Given the description of an element on the screen output the (x, y) to click on. 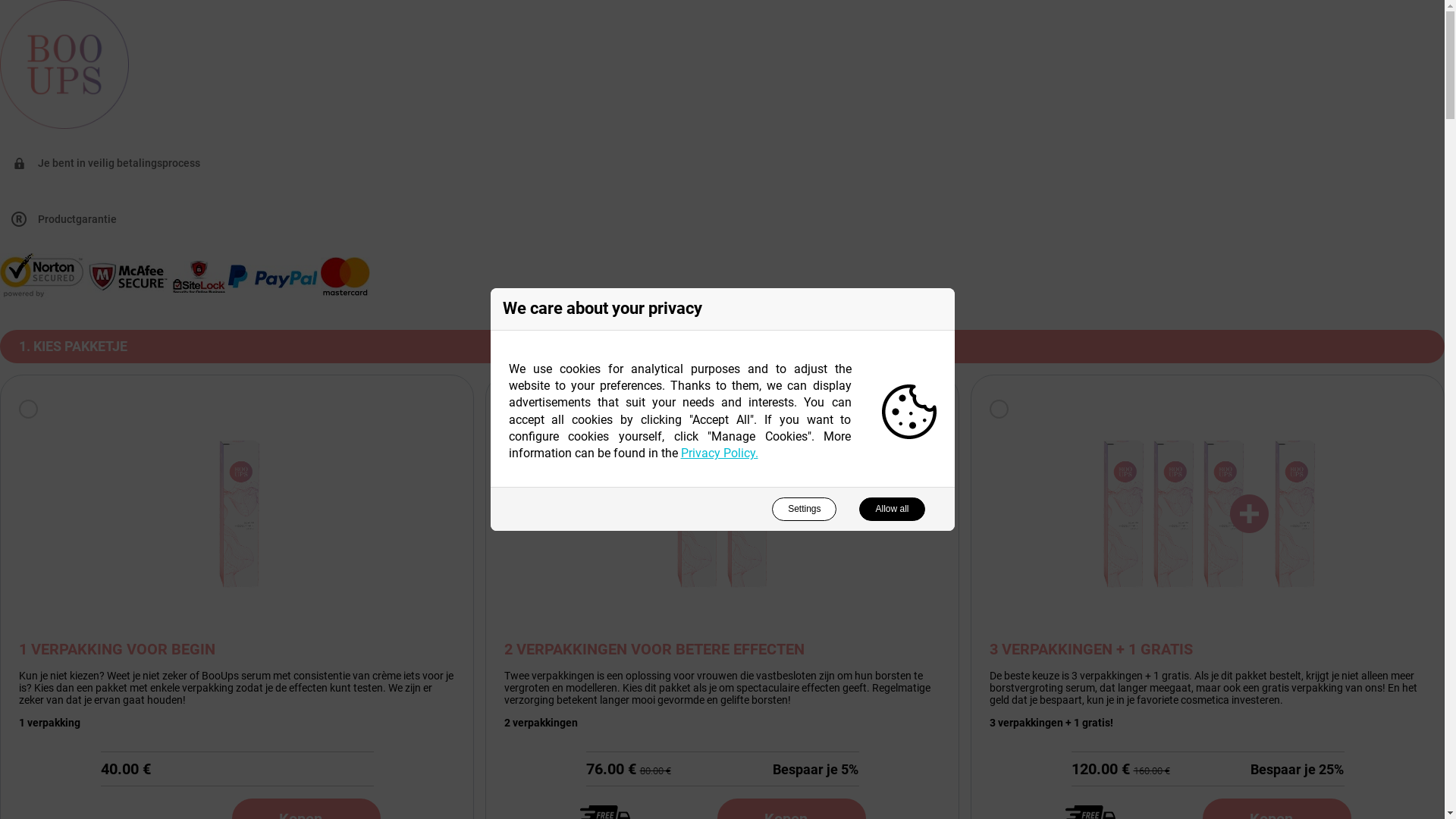
Privacy Policy. Element type: text (719, 452)
Settings Element type: text (803, 509)
Allow all Element type: text (891, 509)
